Given the description of an element on the screen output the (x, y) to click on. 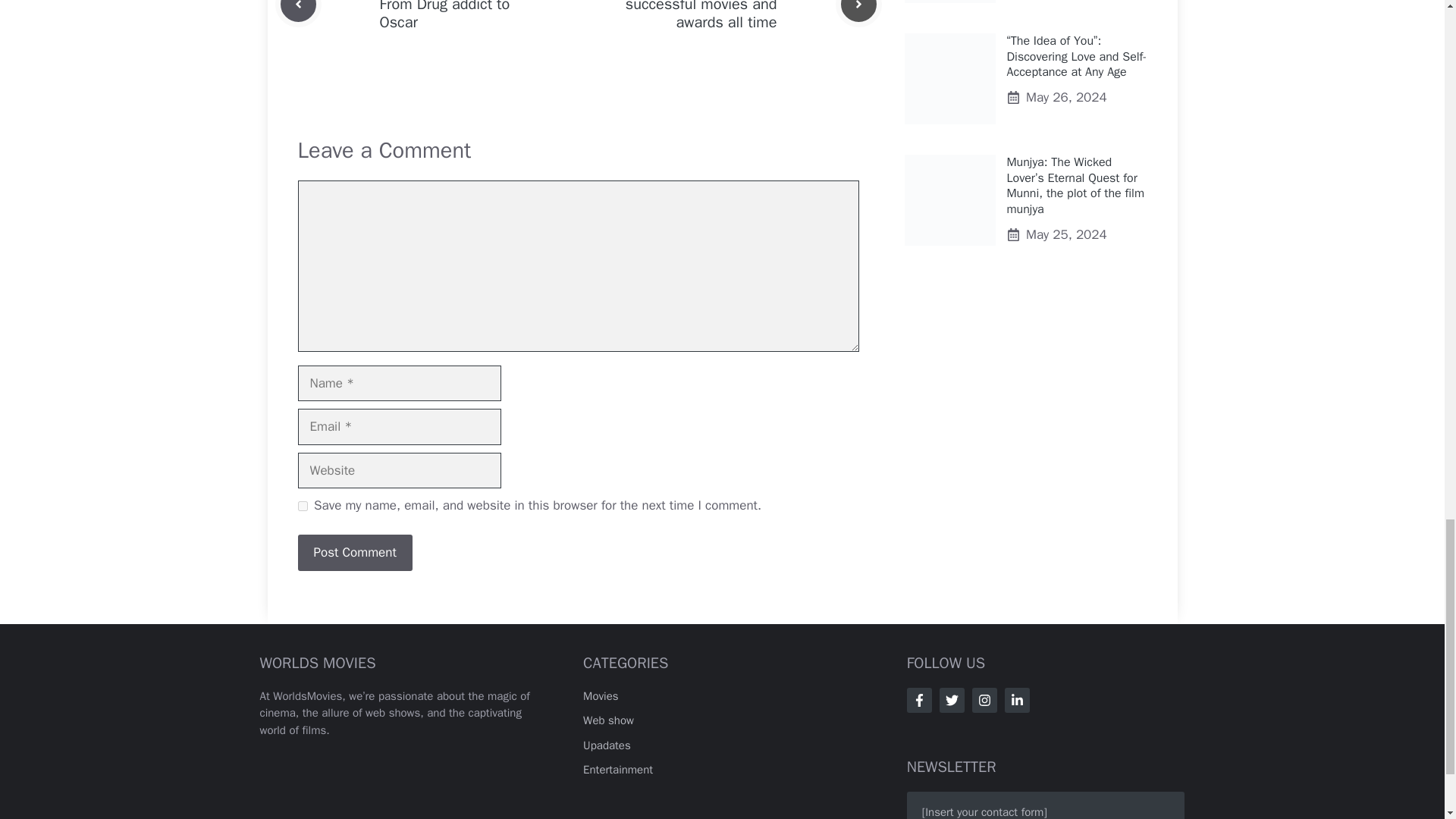
Post Comment (354, 552)
yes (302, 506)
Movies (600, 695)
Post Comment (354, 552)
